Given the description of an element on the screen output the (x, y) to click on. 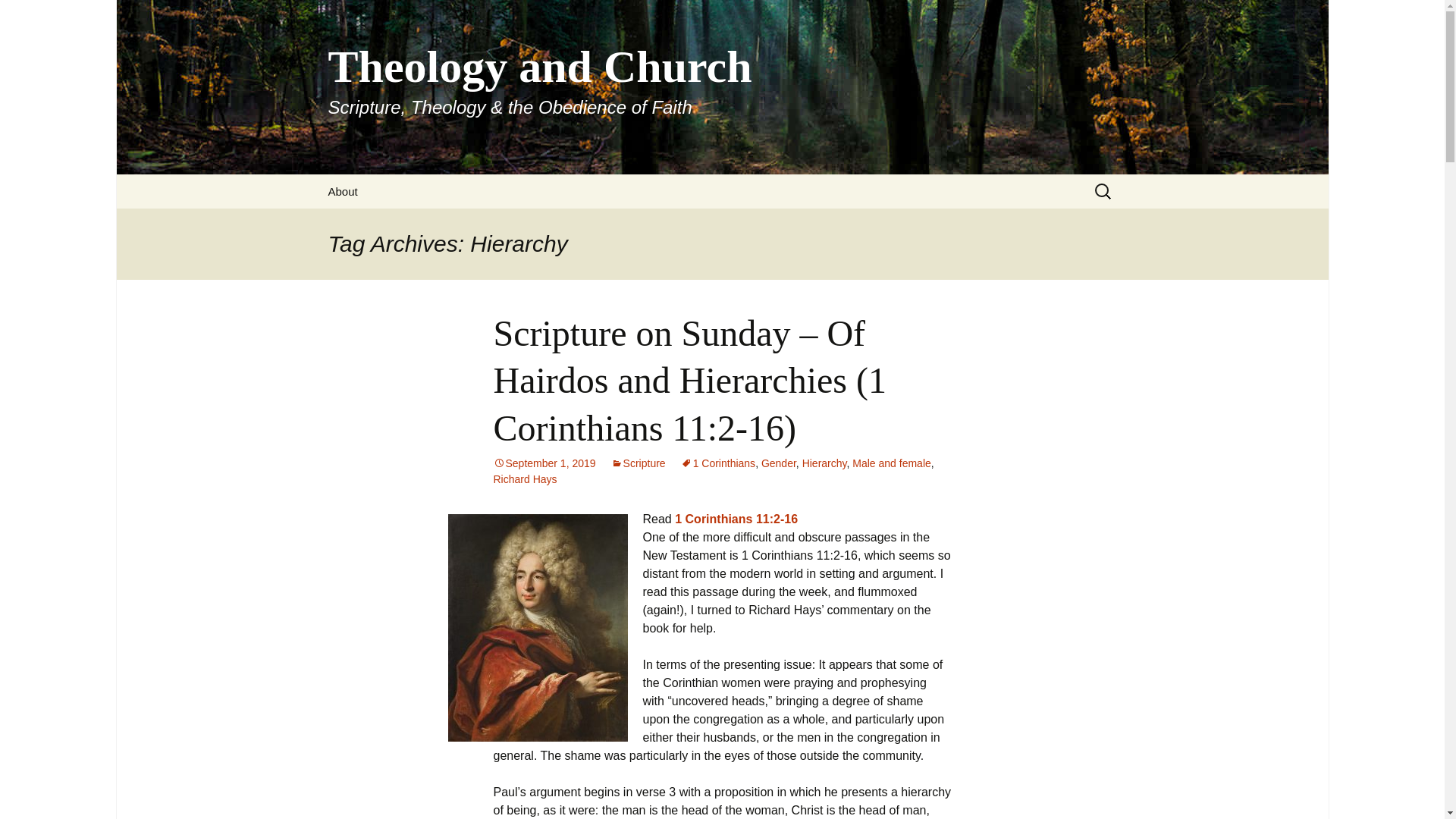
Search (18, 15)
Scripture (638, 463)
Richard Hays (524, 479)
1 Corinthians 11:2-16 (736, 518)
About (342, 191)
Gender (778, 463)
1 Corinthians (718, 463)
Hierarchy (824, 463)
